Given the description of an element on the screen output the (x, y) to click on. 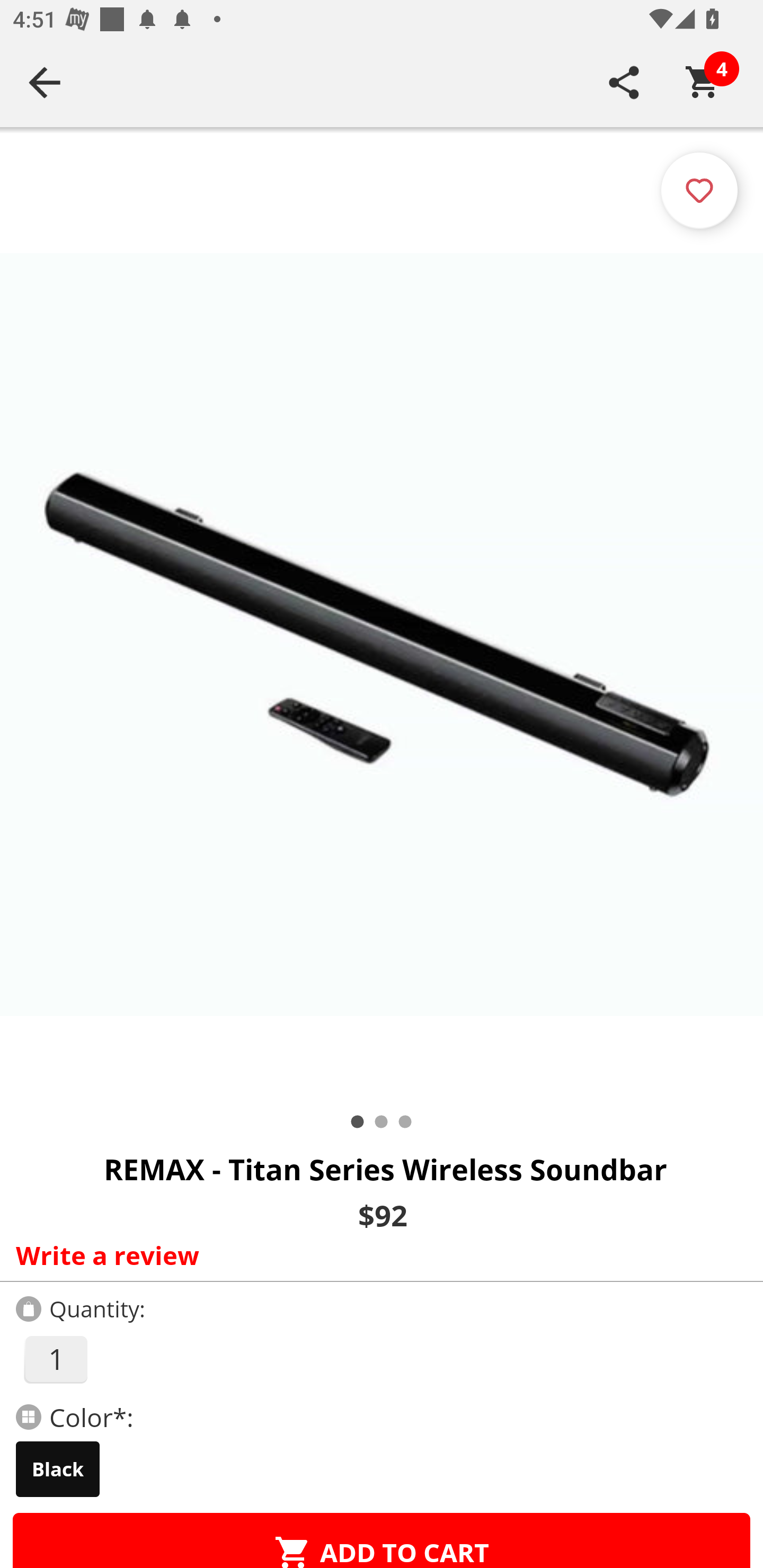
Navigate up (44, 82)
SHARE (623, 82)
Cart (703, 81)
Write a review (377, 1255)
1 (55, 1358)
Black (57, 1468)
ADD TO CART (381, 1540)
